Given the description of an element on the screen output the (x, y) to click on. 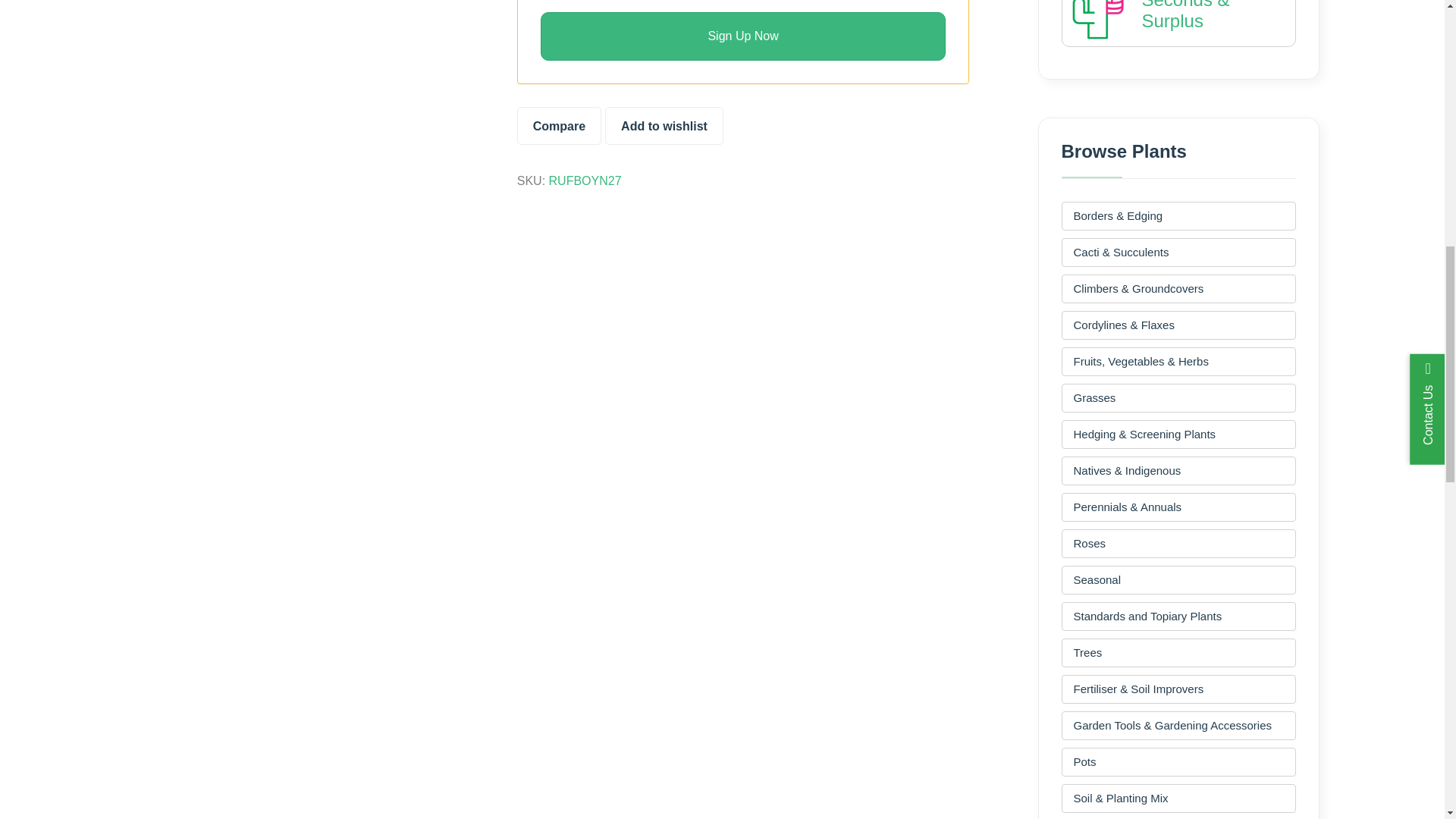
Sign Up Now (743, 36)
